Given the description of an element on the screen output the (x, y) to click on. 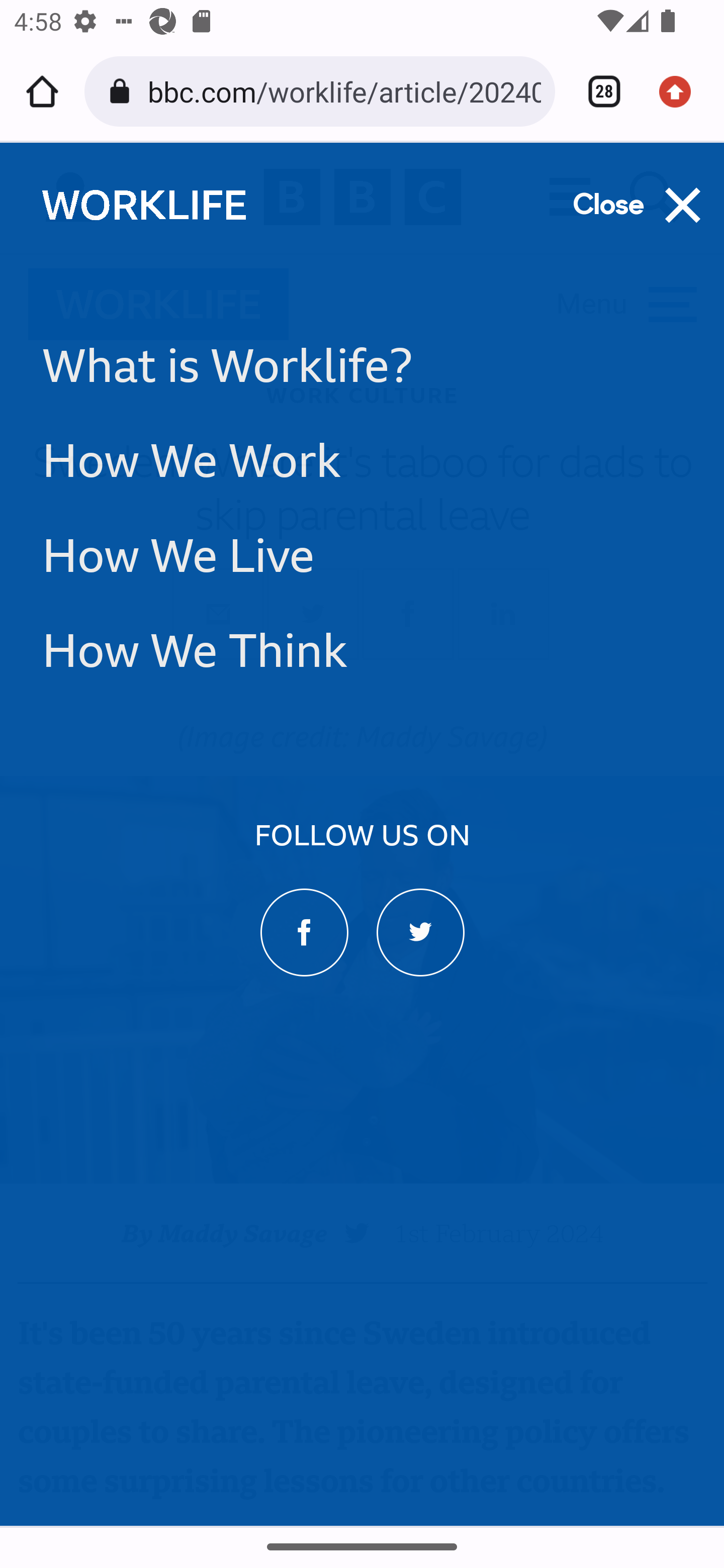
Home (42, 91)
Connection is secure (122, 91)
Switch or close tabs (597, 91)
Update available. More options (681, 91)
